Given the description of an element on the screen output the (x, y) to click on. 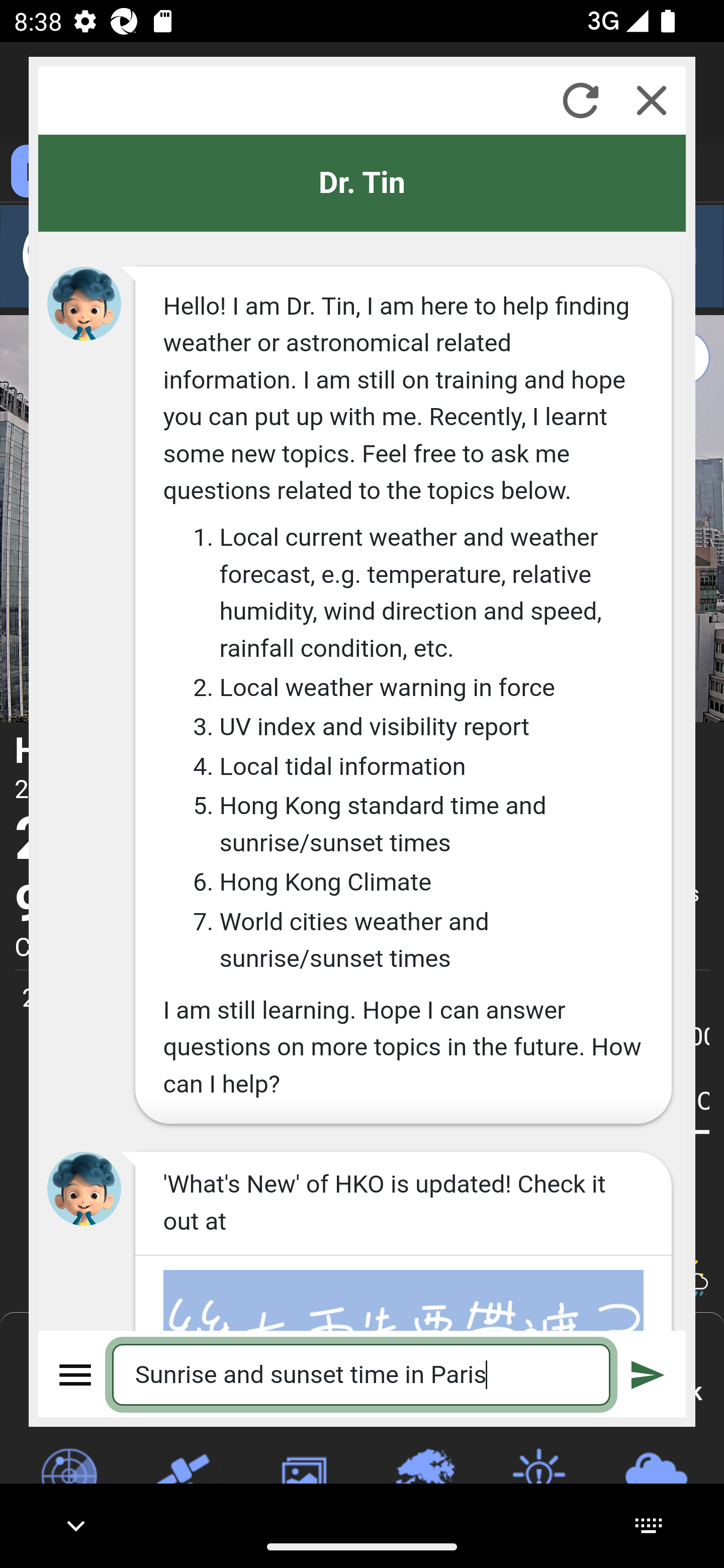
Refresh (580, 100)
Close (651, 100)
Menu (75, 1374)
Submit (648, 1374)
Sunrise and sunset time in Paris (361, 1374)
